Given the description of an element on the screen output the (x, y) to click on. 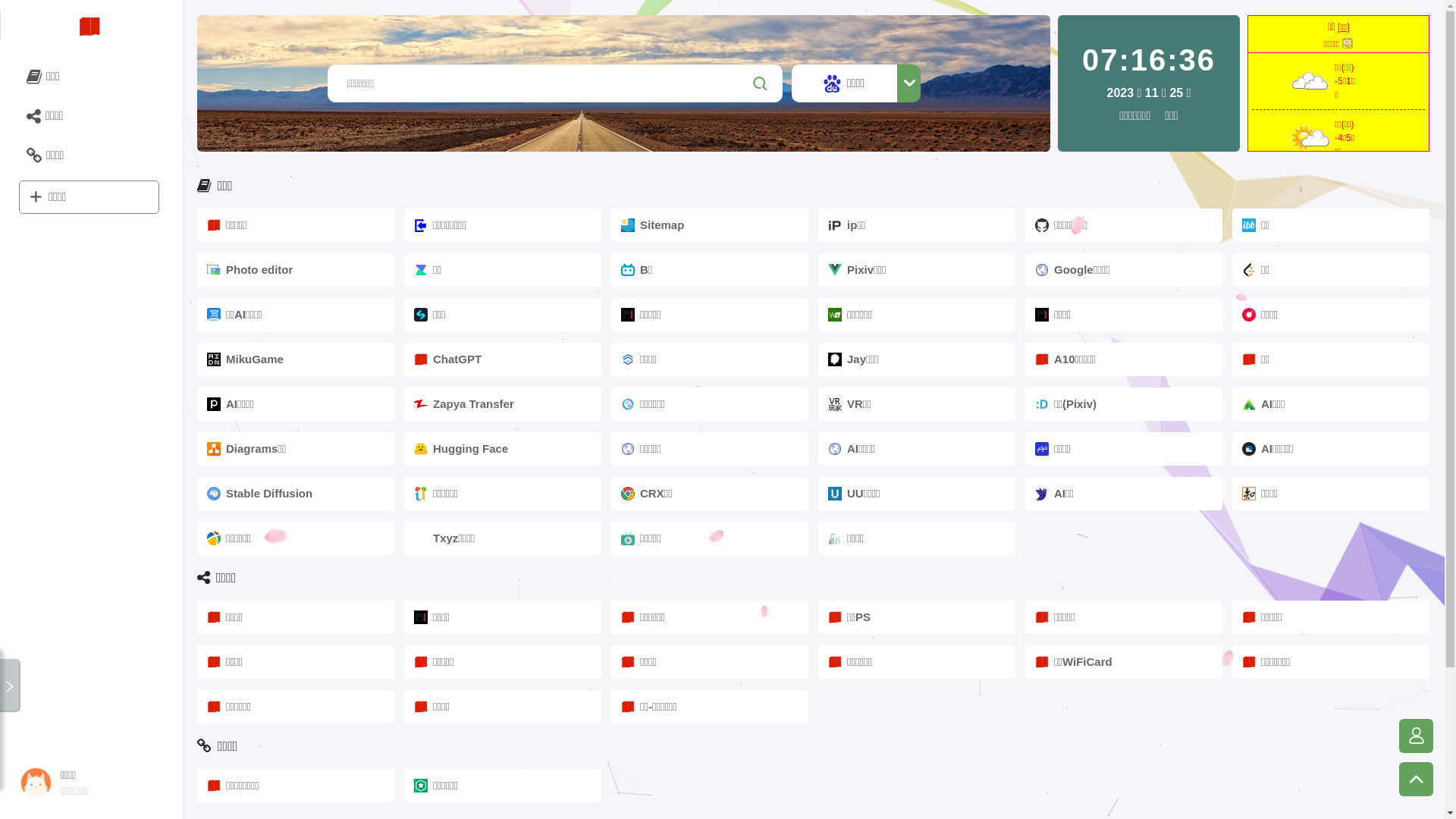
Sitemap Element type: text (709, 224)
Hugging Face Element type: text (502, 448)
ChatGPT Element type: text (502, 359)
Stable Diffusion Element type: text (295, 493)
Zapya Transfer Element type: text (502, 403)
MikuGame Element type: text (295, 359)
Photo editor Element type: text (295, 269)
